Given the description of an element on the screen output the (x, y) to click on. 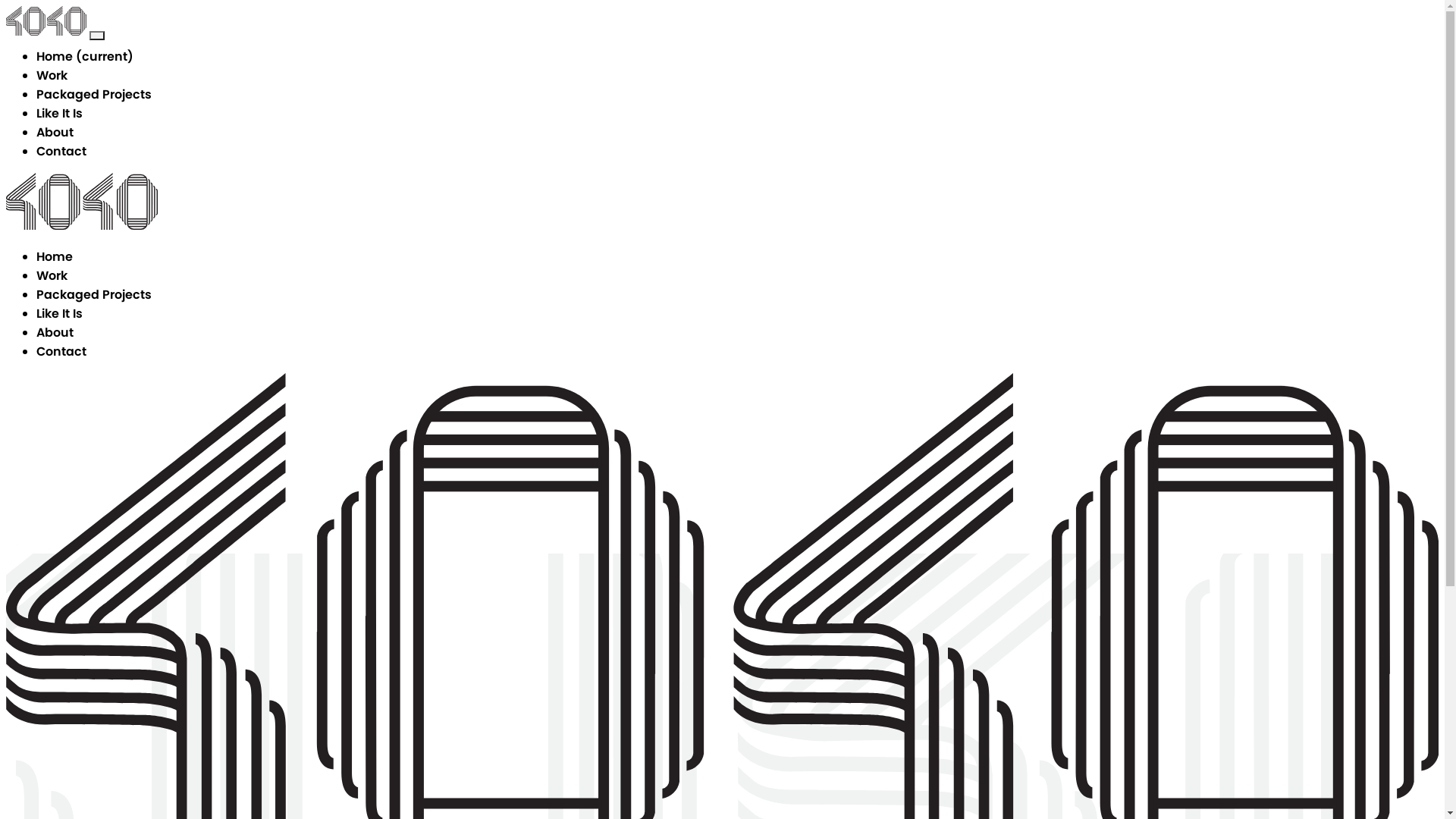
About Element type: text (54, 132)
Like It Is Element type: text (59, 113)
Work Element type: text (51, 275)
Home Element type: text (54, 256)
Packaged Projects Element type: text (93, 294)
Like It Is Element type: text (59, 313)
About Element type: text (54, 332)
4040 Agency Home Element type: hover (81, 225)
Contact Element type: text (61, 351)
Home (current) Element type: text (84, 56)
Packaged Projects Element type: text (93, 94)
Contact Element type: text (61, 151)
Work Element type: text (51, 75)
